Given the description of an element on the screen output the (x, y) to click on. 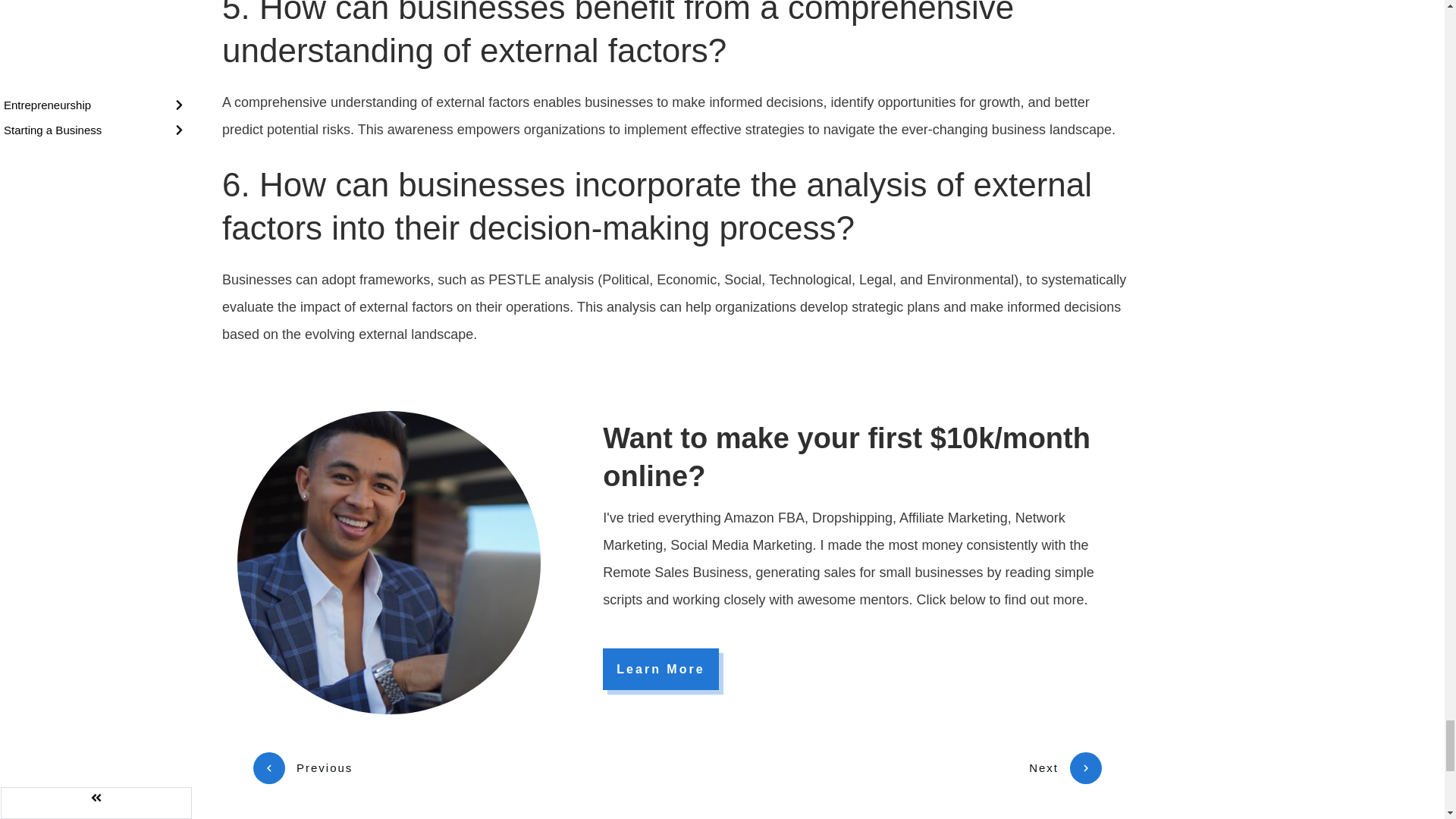
mike-vestil-blog (388, 562)
